Given the description of an element on the screen output the (x, y) to click on. 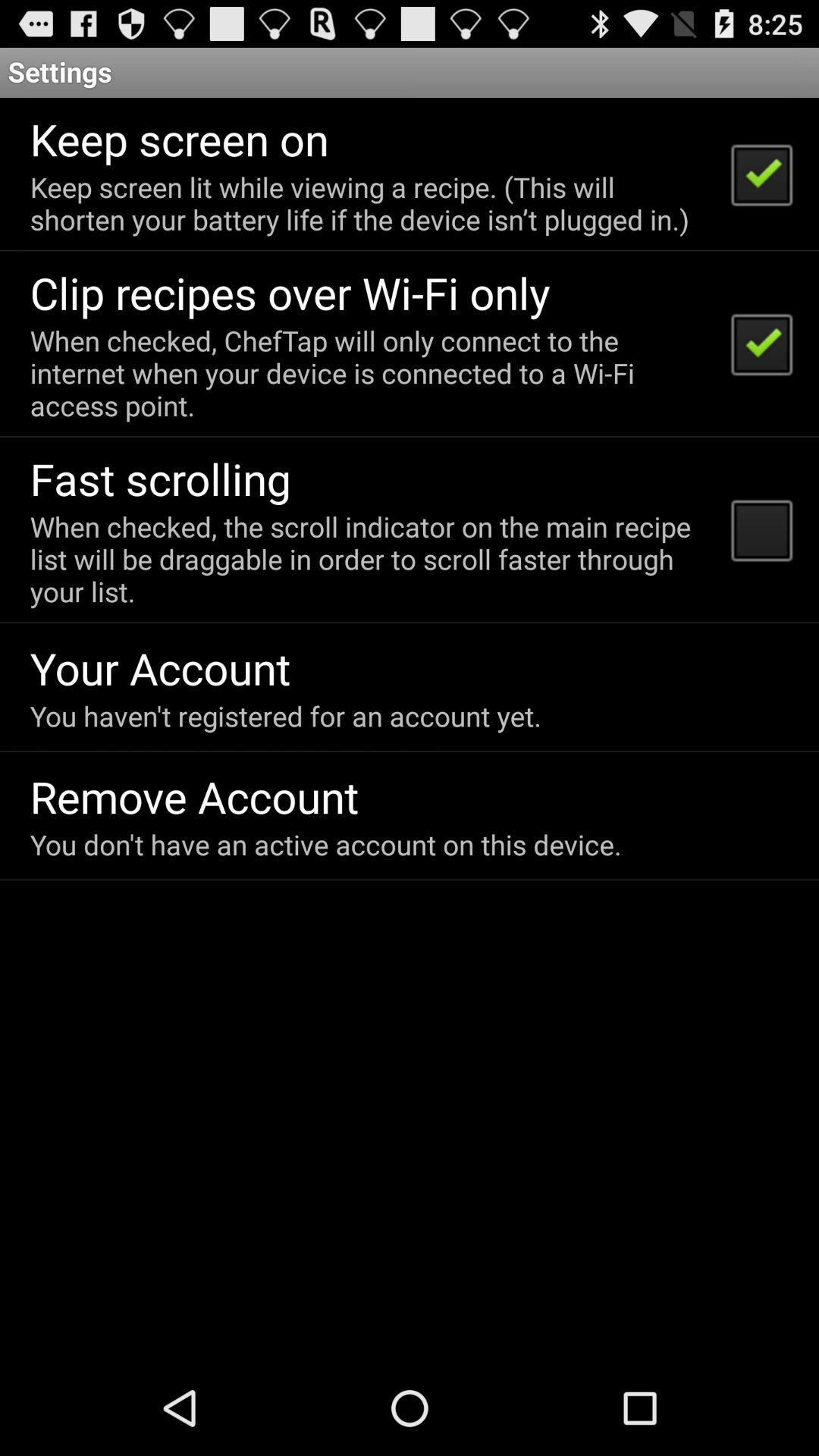
choose remove account item (194, 796)
